Given the description of an element on the screen output the (x, y) to click on. 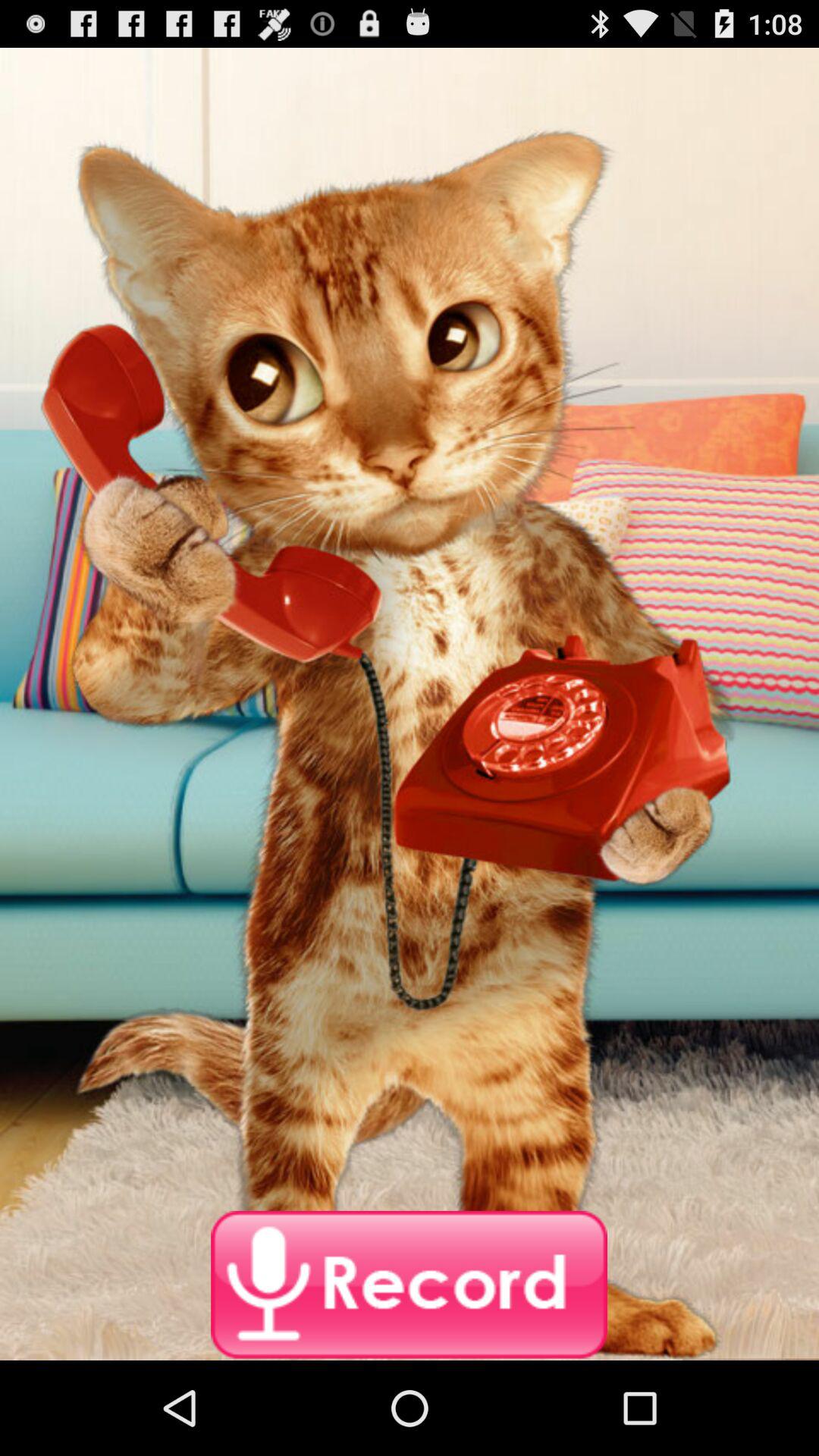
record button (409, 1285)
